Given the description of an element on the screen output the (x, y) to click on. 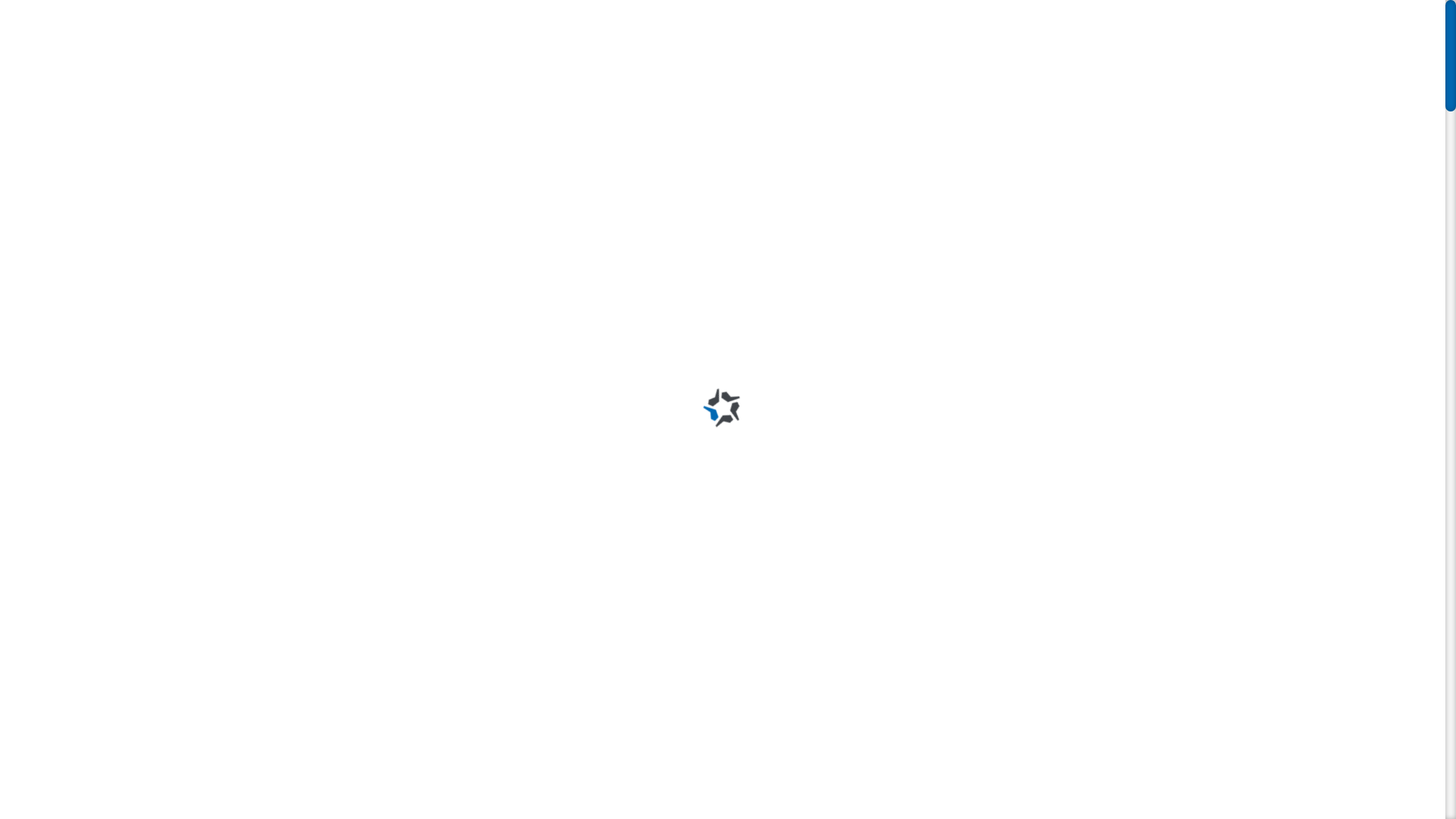
English Element type: text (1130, 71)
prom-privod@mail.ru Element type: text (597, 16)
